Given the description of an element on the screen output the (x, y) to click on. 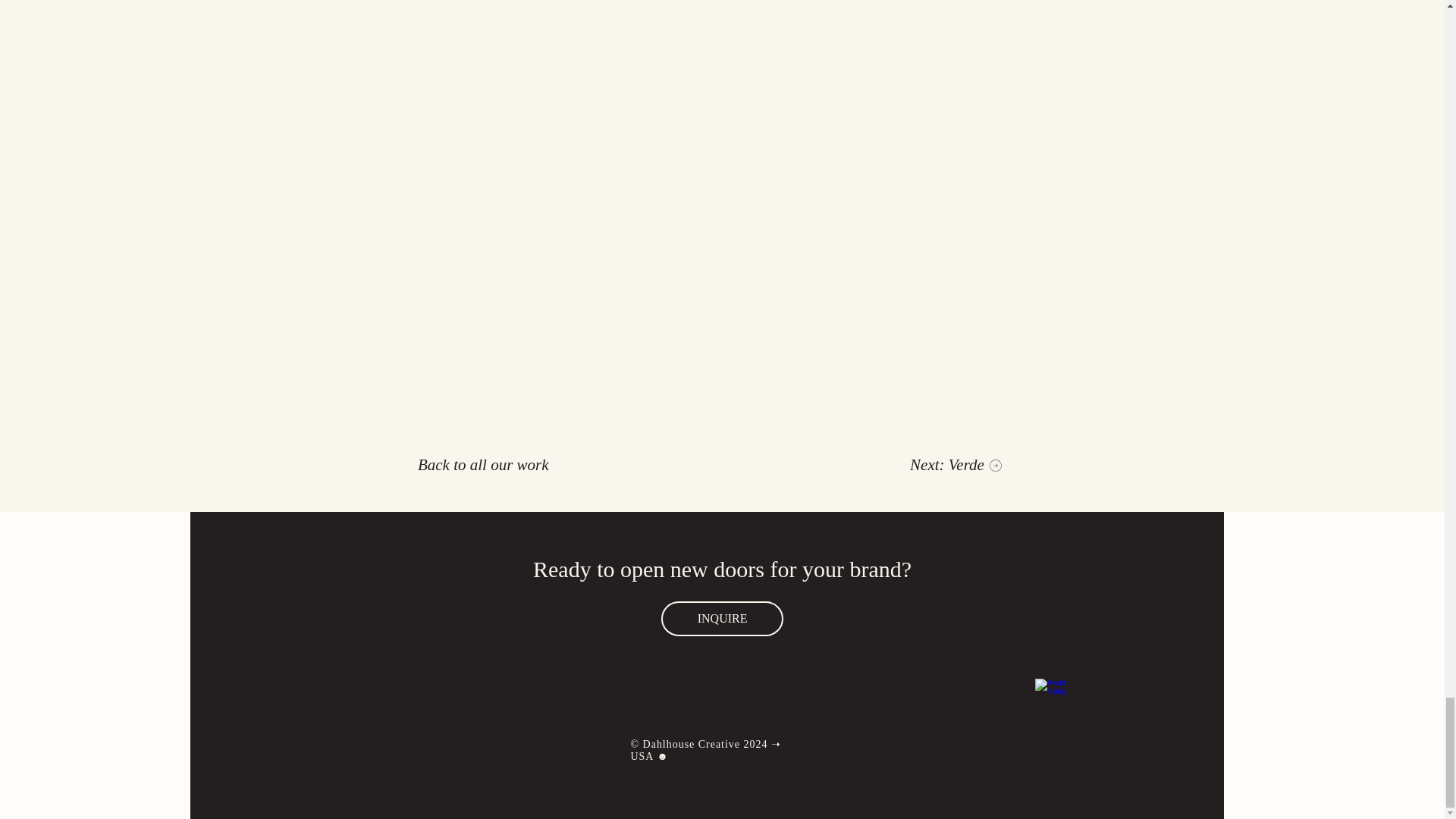
Next: Verde (955, 464)
INQUIRE (722, 618)
Back to all our work (484, 464)
